Given the description of an element on the screen output the (x, y) to click on. 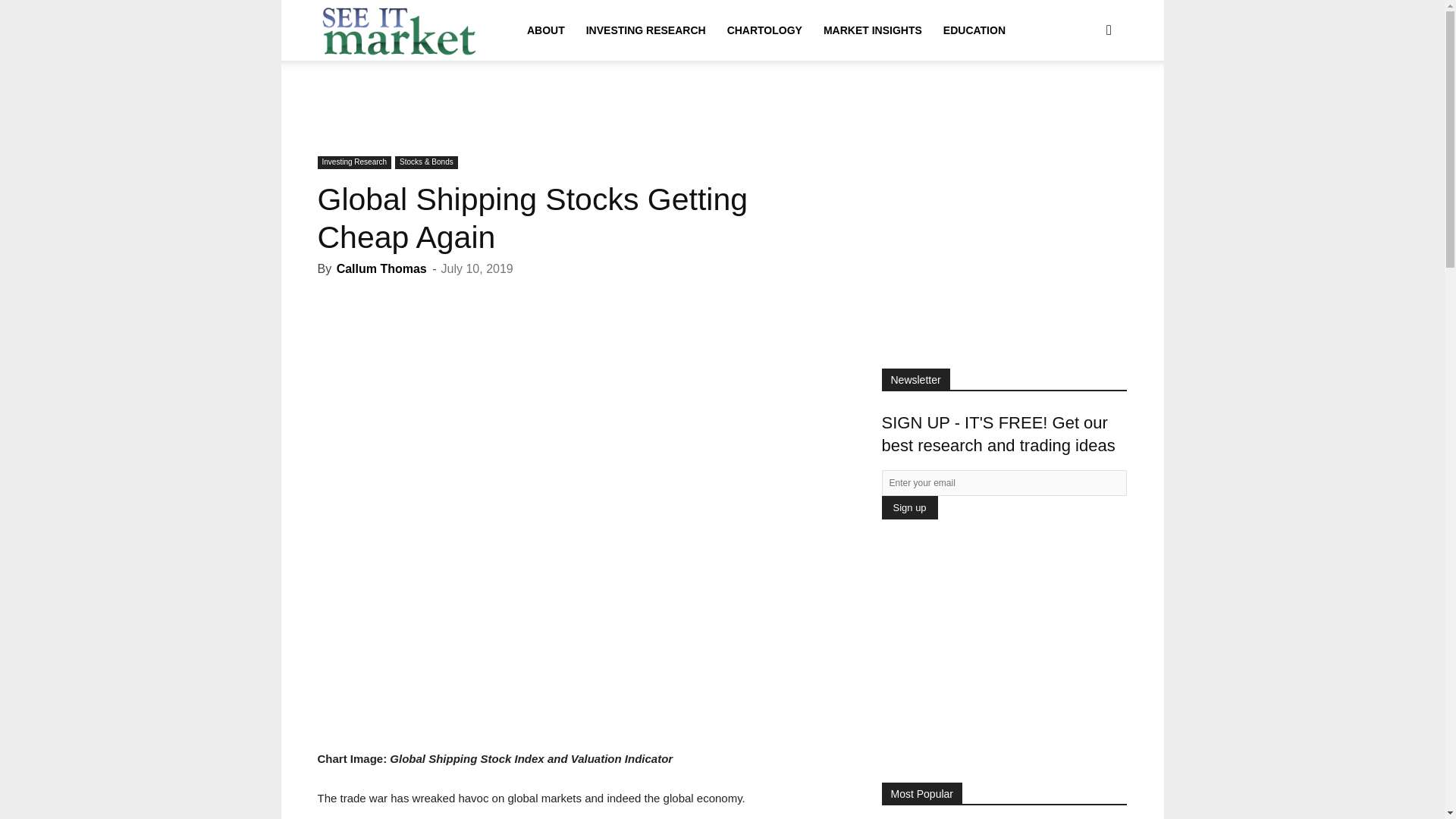
See It Market (400, 30)
Sign up (908, 507)
Search (1085, 102)
